Given the description of an element on the screen output the (x, y) to click on. 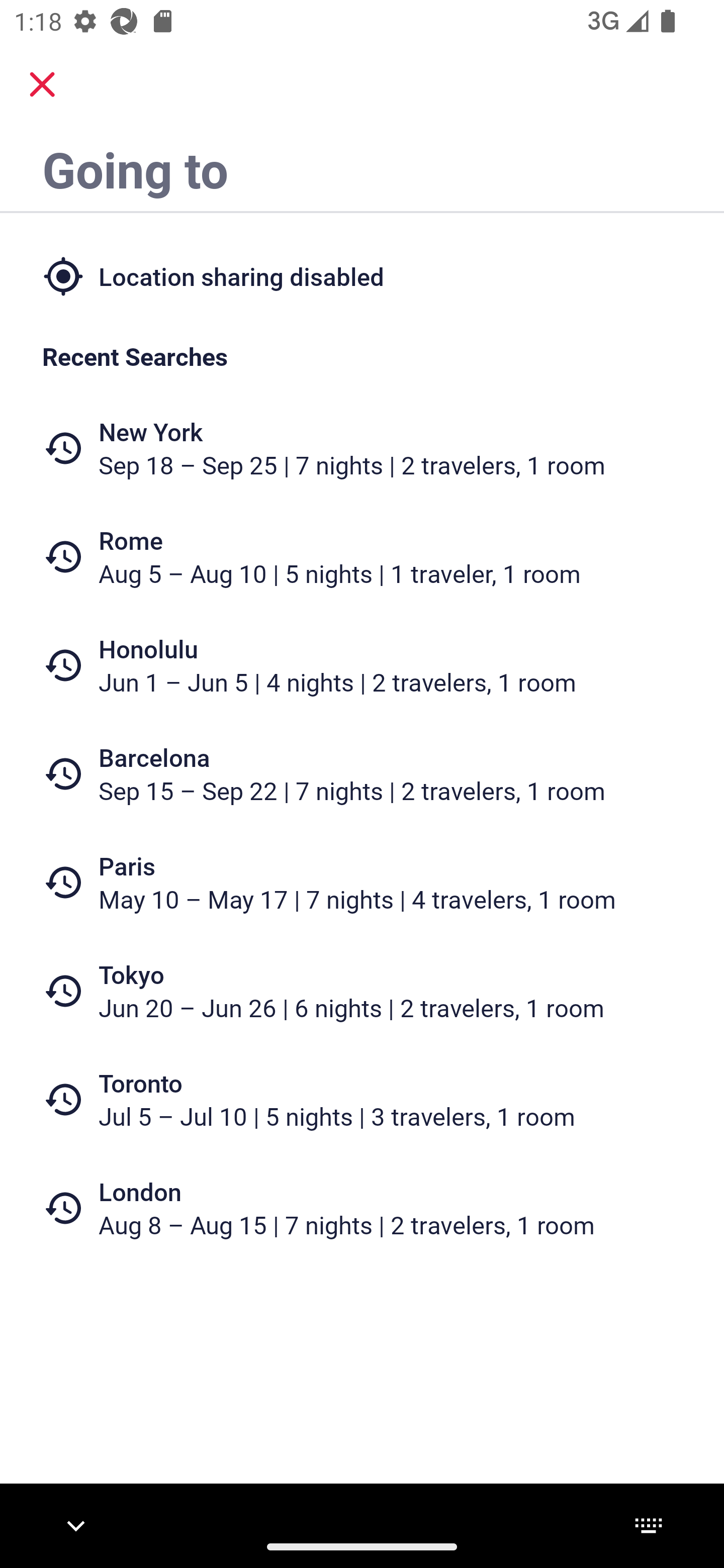
close. (42, 84)
Location sharing disabled (362, 275)
